Given the description of an element on the screen output the (x, y) to click on. 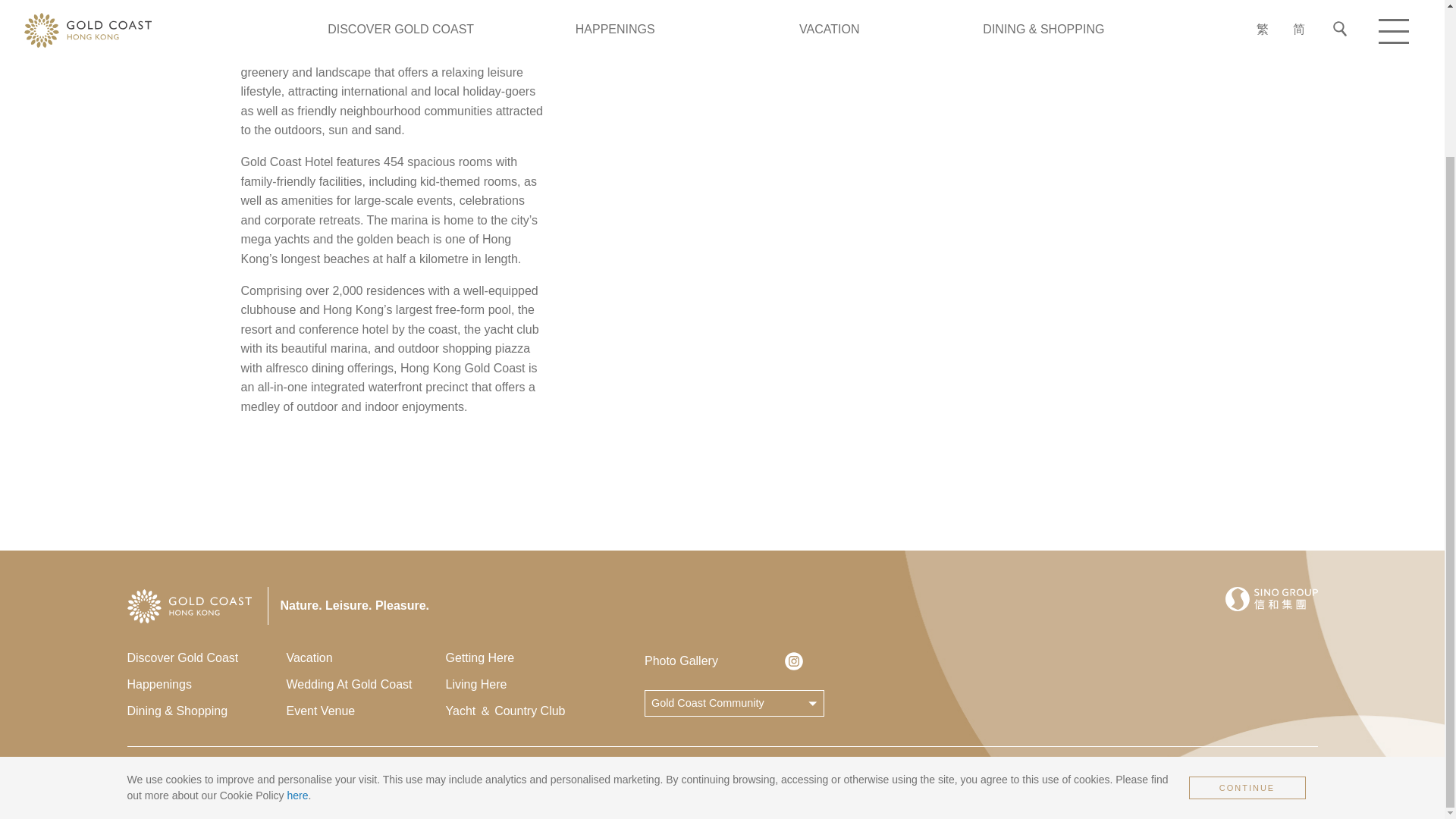
Living Here (525, 684)
Happenings (207, 684)
Event Venue (365, 710)
Wedding At Gold Coast (365, 684)
Discover Gold Coast (207, 658)
Vacation (365, 658)
Photo Gallery (714, 660)
Getting Here (525, 658)
